Given the description of an element on the screen output the (x, y) to click on. 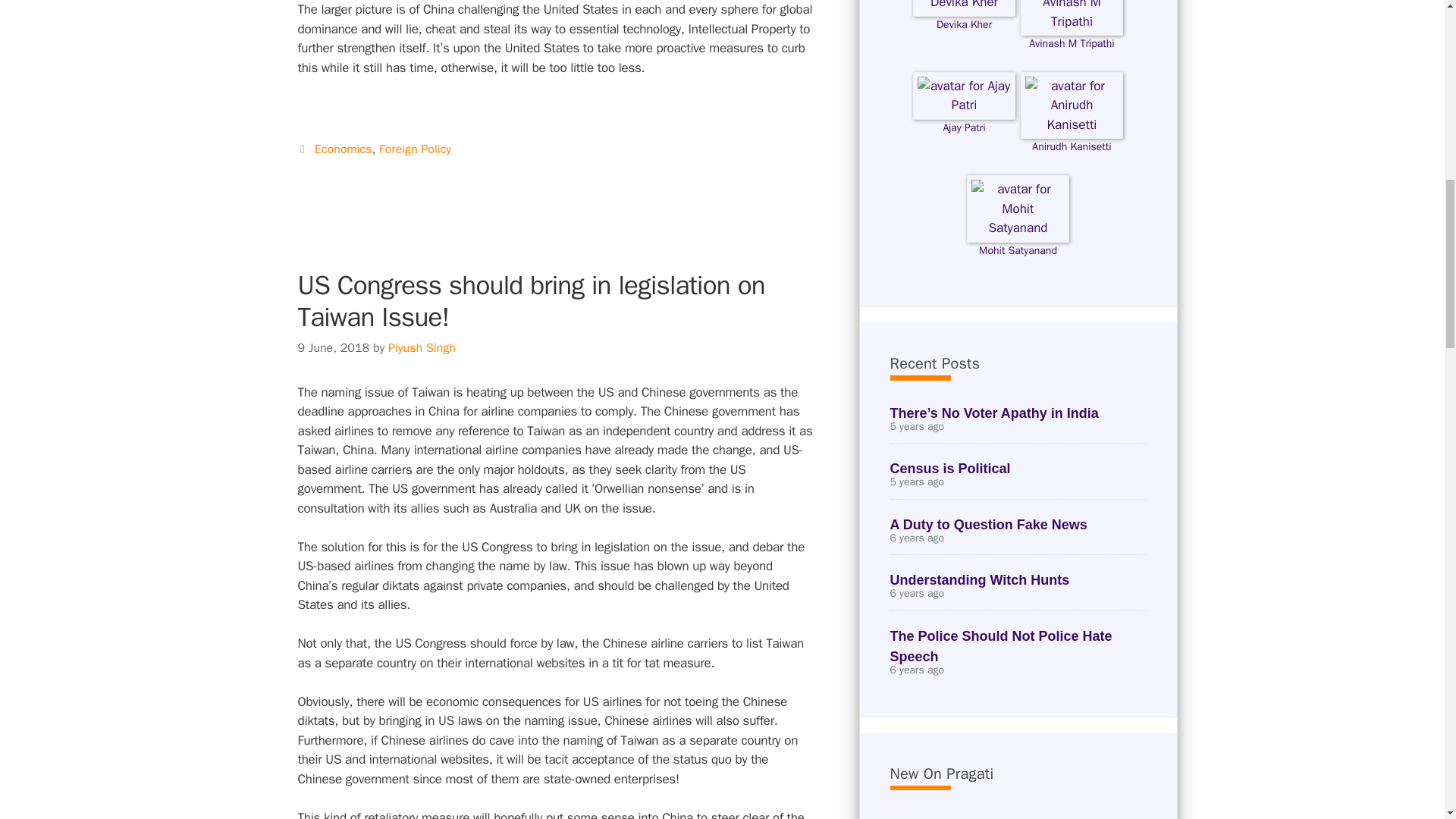
Economics (342, 149)
Posts by Piyush Singh (421, 347)
